Given the description of an element on the screen output the (x, y) to click on. 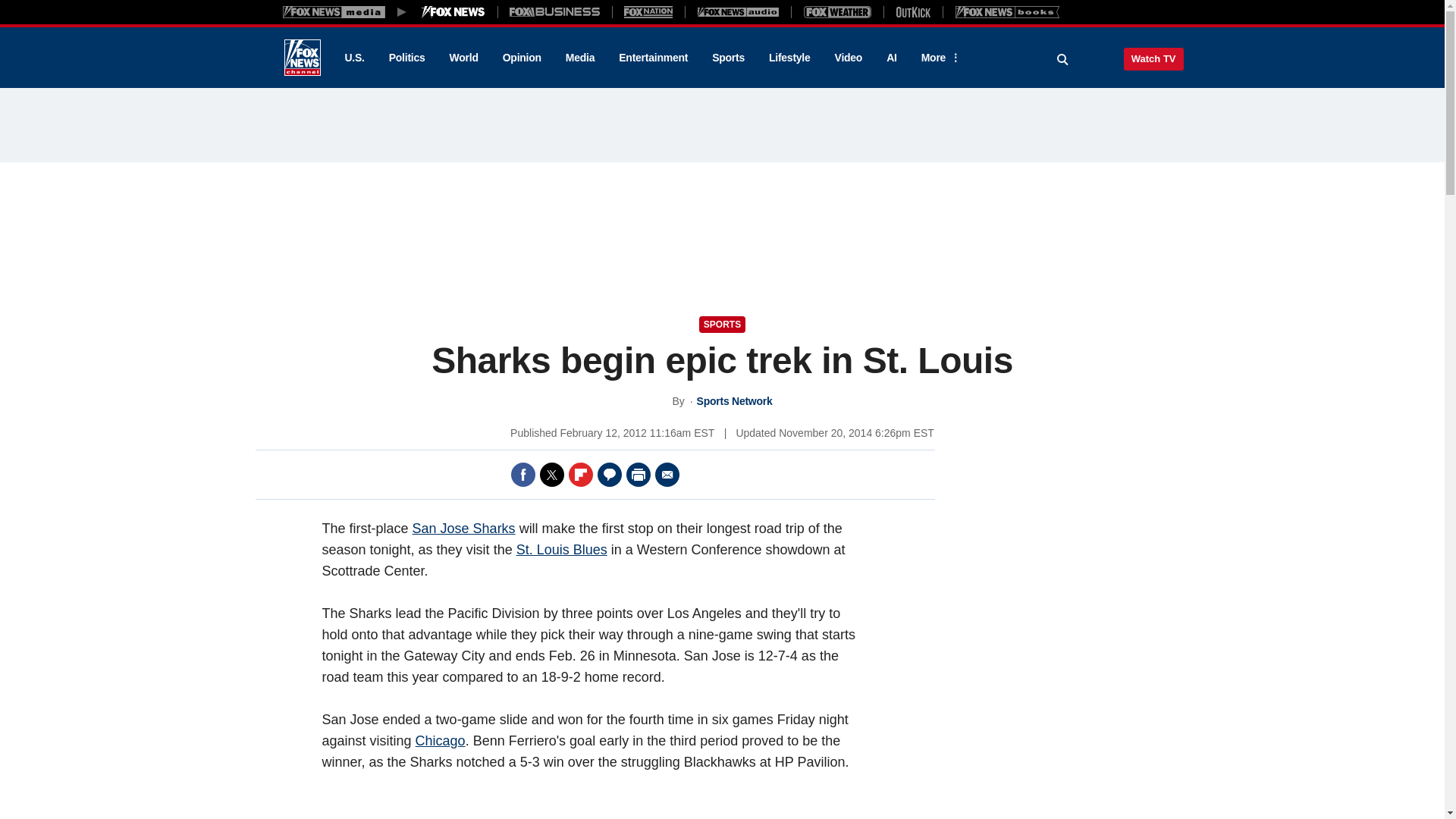
Fox News (301, 57)
Lifestyle (789, 57)
More (938, 57)
Watch TV (1153, 58)
Politics (407, 57)
Fox Weather (836, 11)
AI (891, 57)
Video (848, 57)
Sports (728, 57)
Fox Business (554, 11)
